Given the description of an element on the screen output the (x, y) to click on. 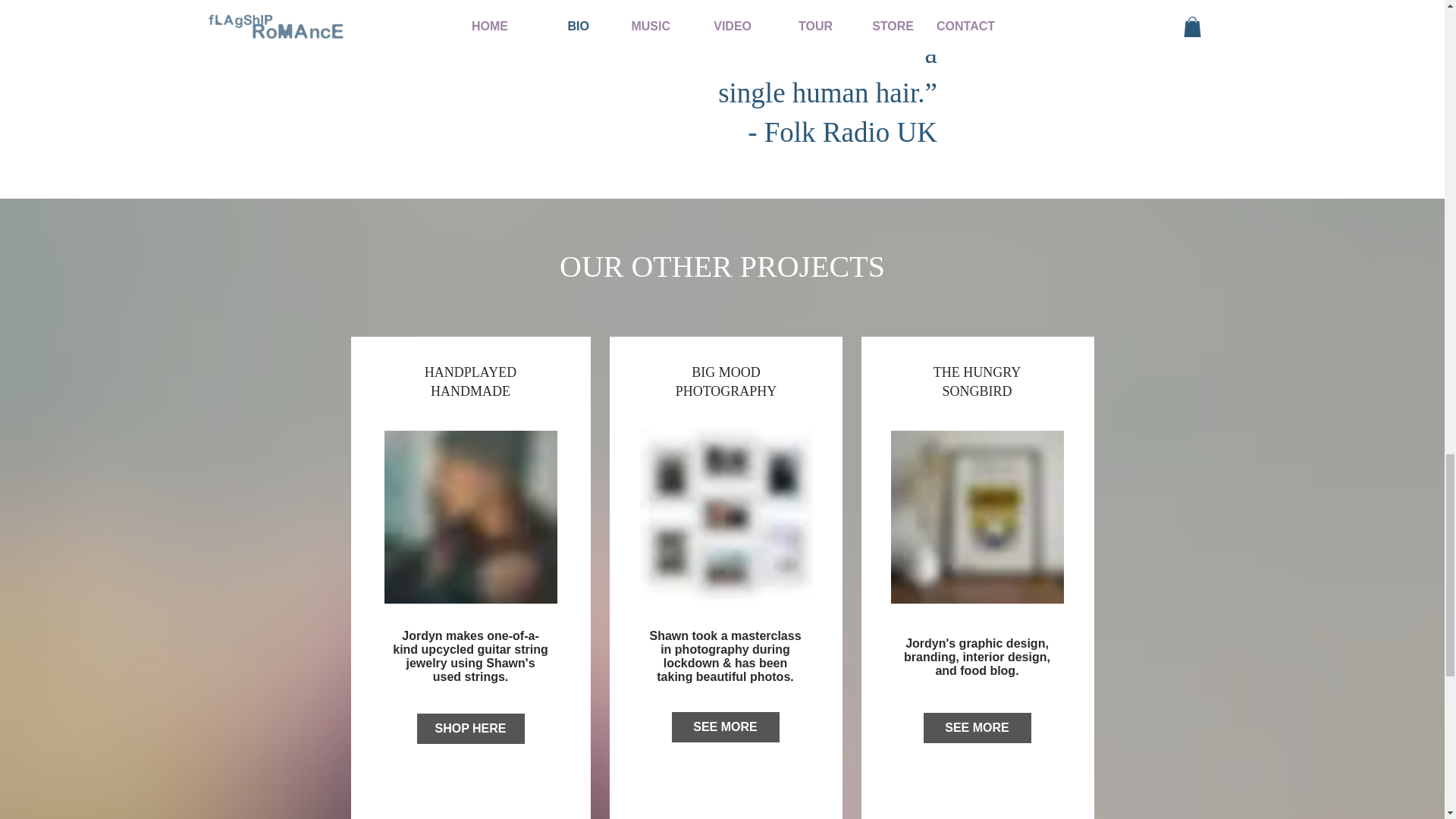
SEE MORE (724, 726)
SHOP HERE (470, 728)
SEE MORE (976, 727)
